Given the description of an element on the screen output the (x, y) to click on. 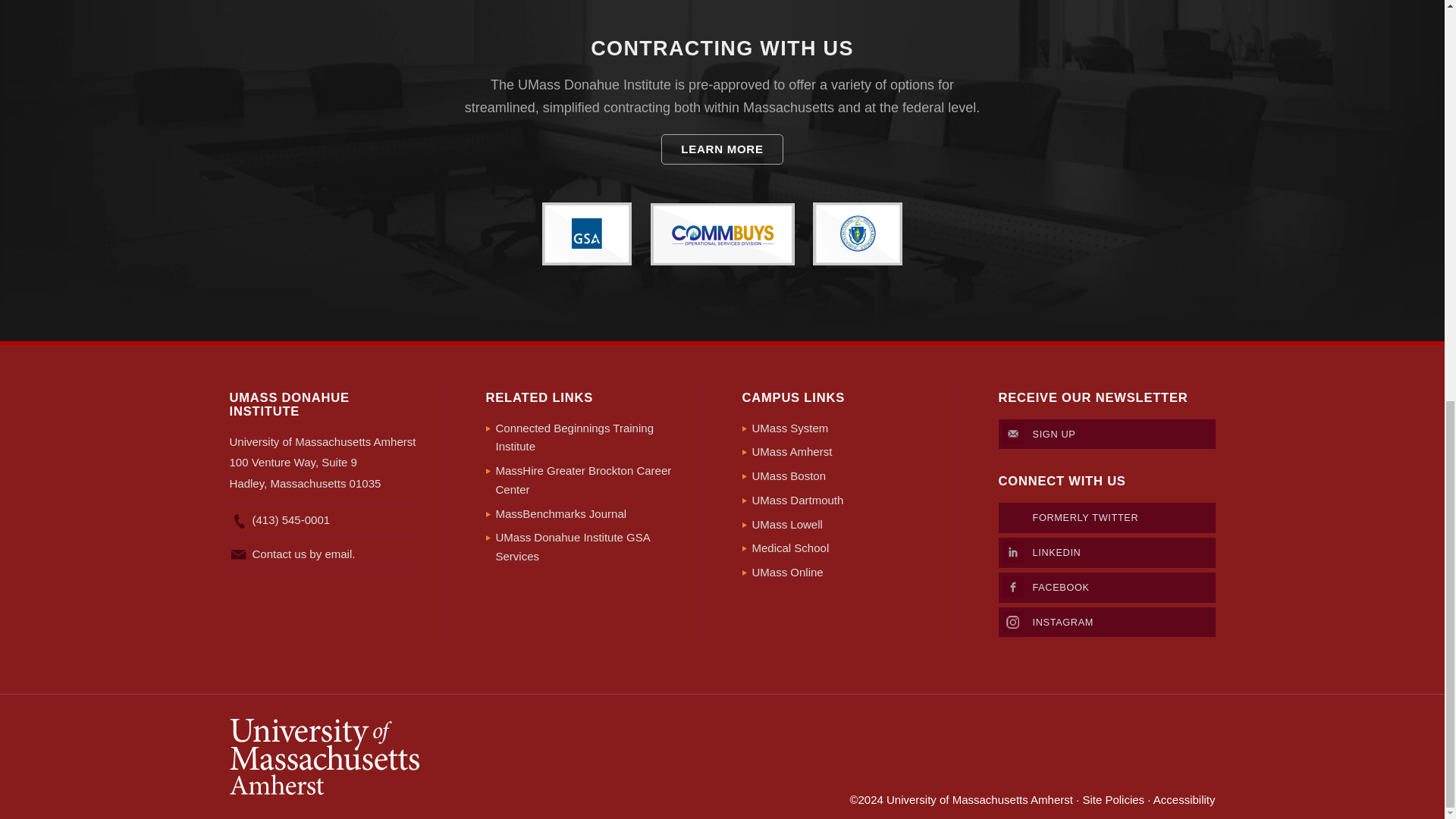
University of Massachusetts Amherst (475, 756)
